Given the description of an element on the screen output the (x, y) to click on. 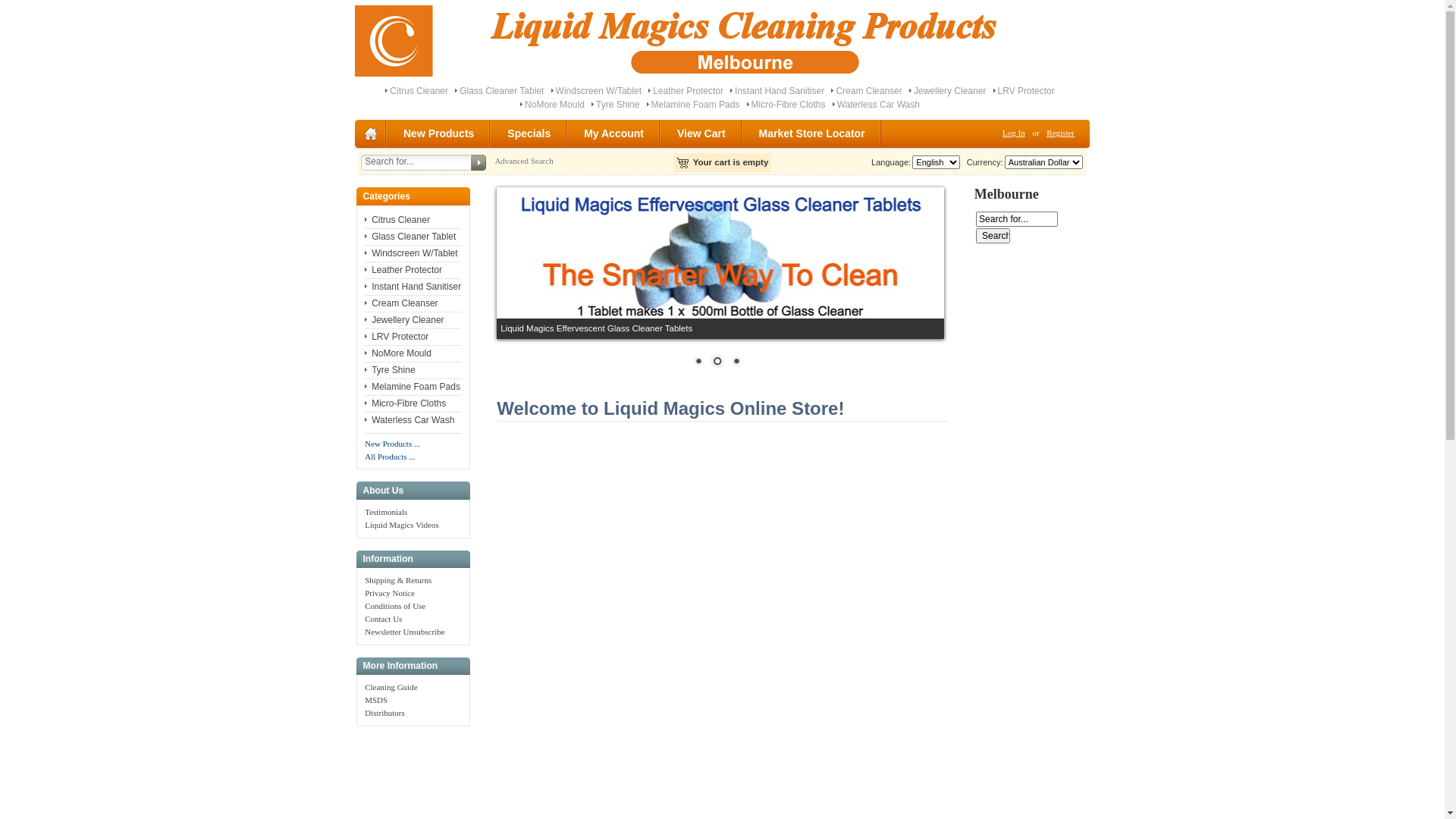
Instant Hand Sanitiser Element type: text (779, 90)
Contact Us Element type: text (382, 618)
Search Element type: text (992, 235)
MSDS Element type: text (375, 699)
NoMore Mould Element type: text (397, 353)
Conditions of Use Element type: text (394, 605)
Register Element type: text (1060, 132)
Tyre Shine Element type: text (617, 104)
Micro-Fibre Cloths Element type: text (404, 403)
Jewellery Cleaner Element type: text (403, 319)
Testimonials Element type: text (385, 511)
Cream Cleanser Element type: text (400, 303)
My Account Element type: text (614, 133)
Windscreen W/Tablet Element type: text (598, 90)
New Products Element type: text (439, 133)
Advanced Search Element type: text (523, 160)
2 Element type: text (717, 362)
Newsletter Unsubscribe Element type: text (404, 631)
Shipping & Returns Element type: text (397, 579)
Windscreen W/Tablet Element type: text (410, 252)
Glass Cleaner Tablet Element type: text (501, 90)
Leather Protector Element type: text (403, 269)
Micro-Fibre Cloths Element type: text (788, 104)
Privacy Notice Element type: text (389, 592)
NoMore Mould Element type: text (554, 104)
Glass Cleaner Tablet Element type: text (409, 236)
3 Element type: text (736, 362)
1 Element type: text (698, 362)
Cream Cleanser Element type: text (868, 90)
Cleaning Guide Element type: text (390, 686)
Jewellery Cleaner Element type: text (949, 90)
All Products ... Element type: text (389, 456)
Liquid Magics Videos Element type: text (401, 524)
LRV Protector Element type: text (1026, 90)
Specials Element type: text (529, 133)
Melamine Foam Pads Element type: text (695, 104)
Leather Protector Element type: text (688, 90)
Tyre Shine Element type: text (389, 369)
View Cart Element type: text (701, 133)
Citrus Cleaner Element type: text (418, 90)
Citrus Cleaner Element type: text (396, 219)
Distributors Element type: text (384, 712)
Melamine Foam Pads Element type: text (412, 386)
Instant Hand Sanitiser Element type: text (412, 286)
LRV Protector Element type: text (396, 336)
Log In Element type: text (1013, 132)
Waterless Car Wash Element type: text (878, 104)
Market Store Locator Element type: text (812, 133)
New Products ... Element type: text (392, 443)
Waterless Car Wash Element type: text (409, 419)
